Given the description of an element on the screen output the (x, y) to click on. 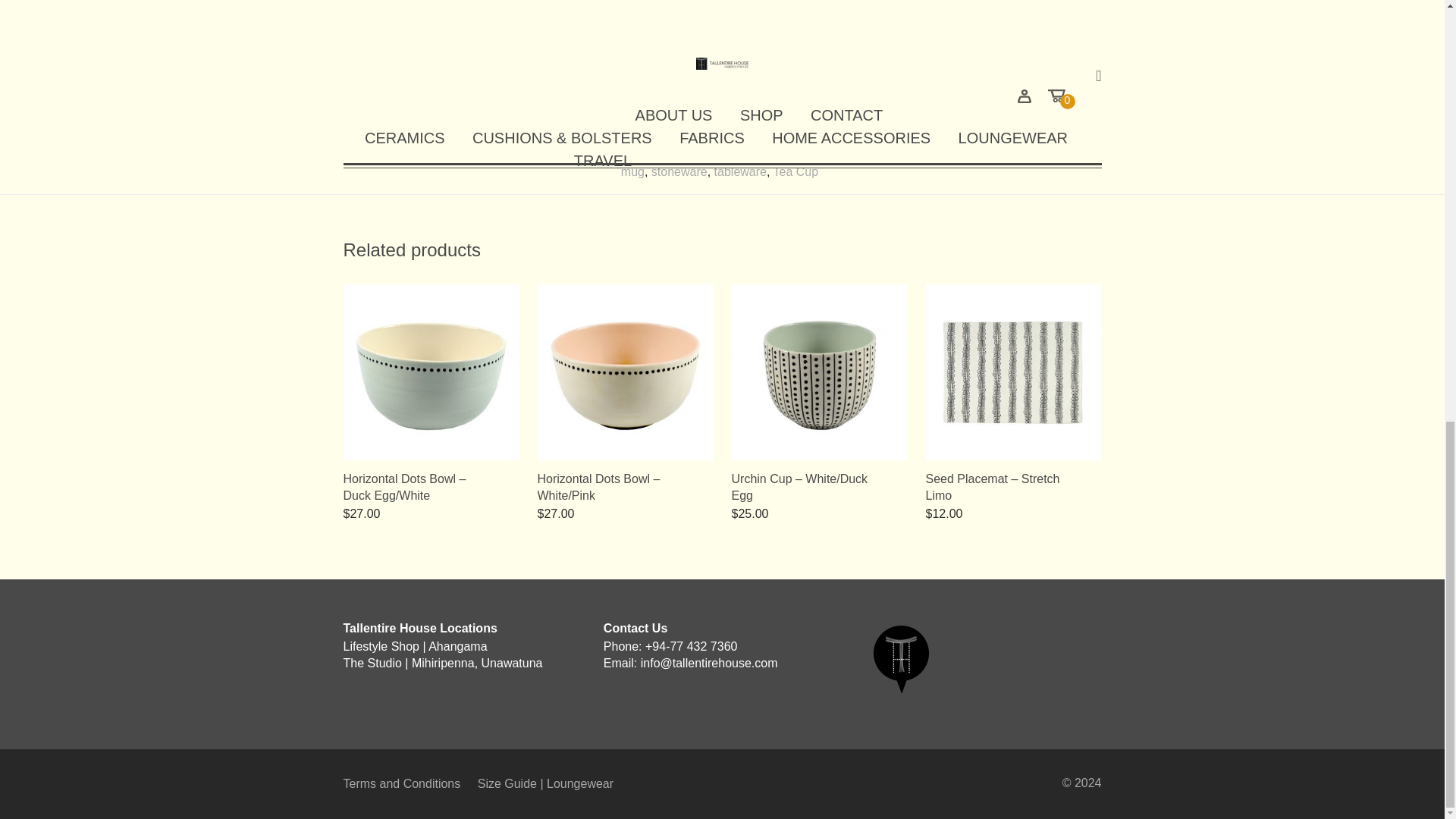
Cups (507, 154)
Dining (702, 154)
ceramics (591, 154)
Size Guide (544, 784)
coffee cup (651, 154)
